Given the description of an element on the screen output the (x, y) to click on. 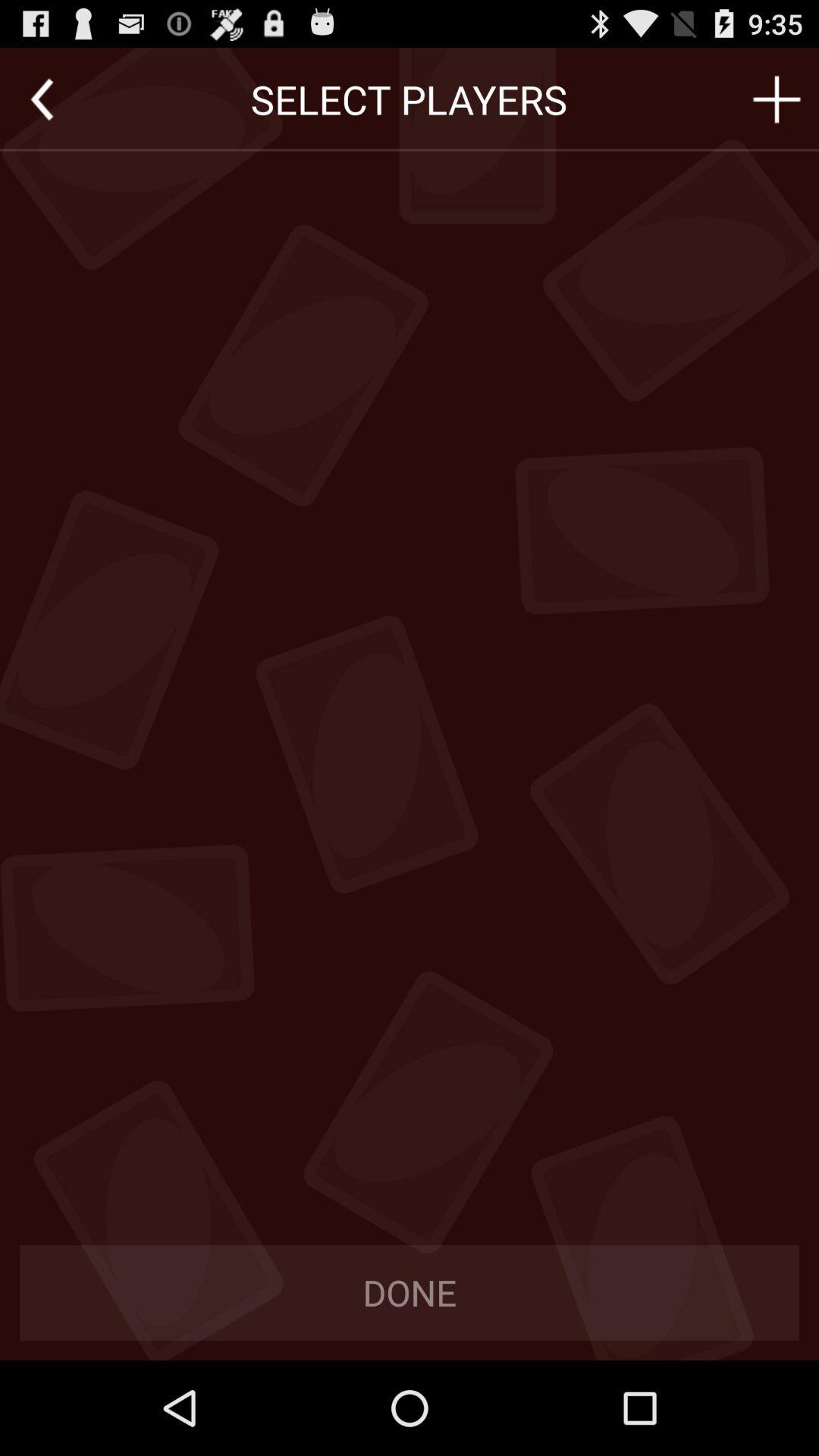
add new player (776, 99)
